Given the description of an element on the screen output the (x, y) to click on. 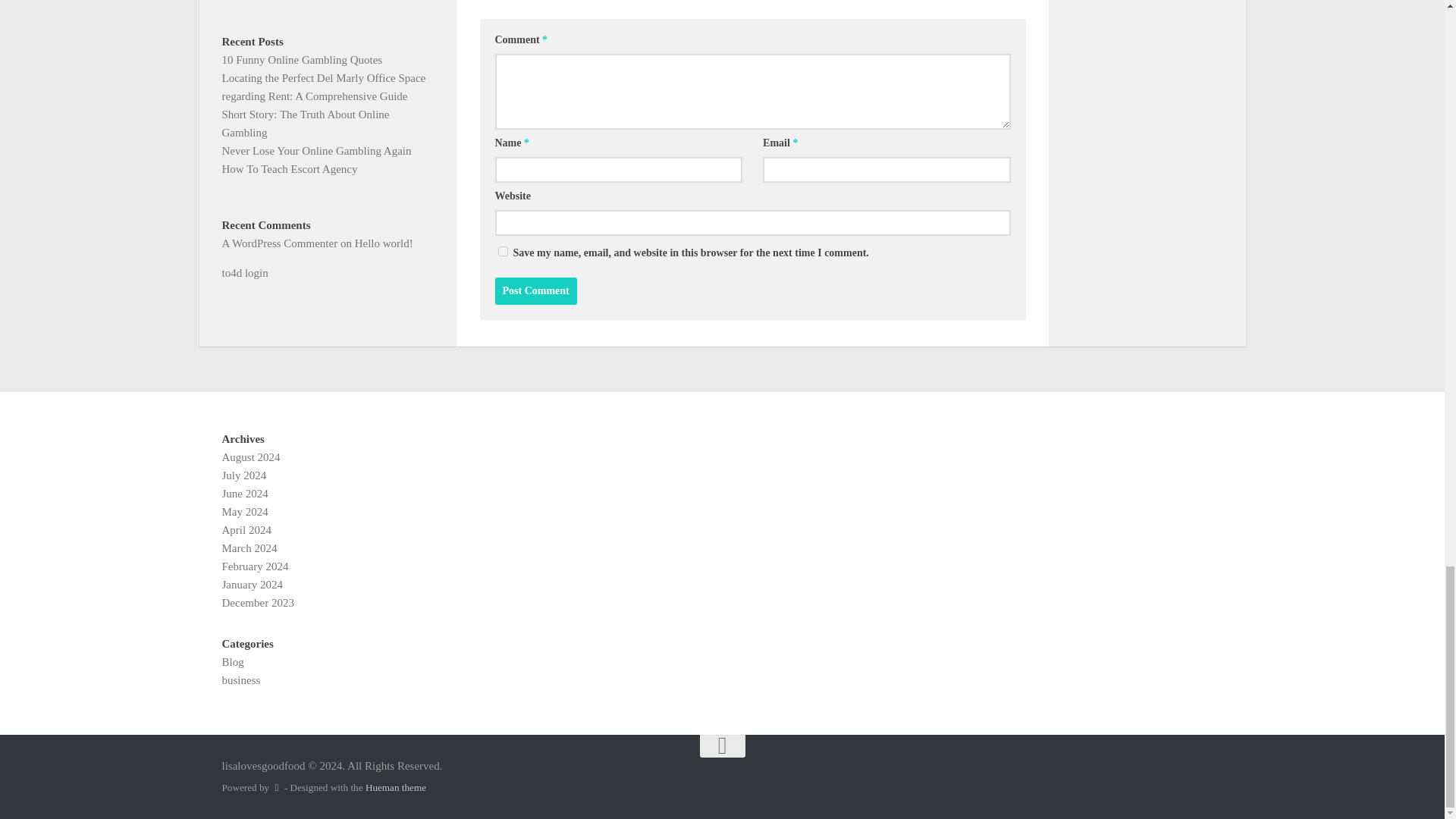
yes (501, 251)
Powered by WordPress (275, 787)
Post Comment (535, 290)
Post Comment (535, 290)
Hueman theme (395, 787)
